Given the description of an element on the screen output the (x, y) to click on. 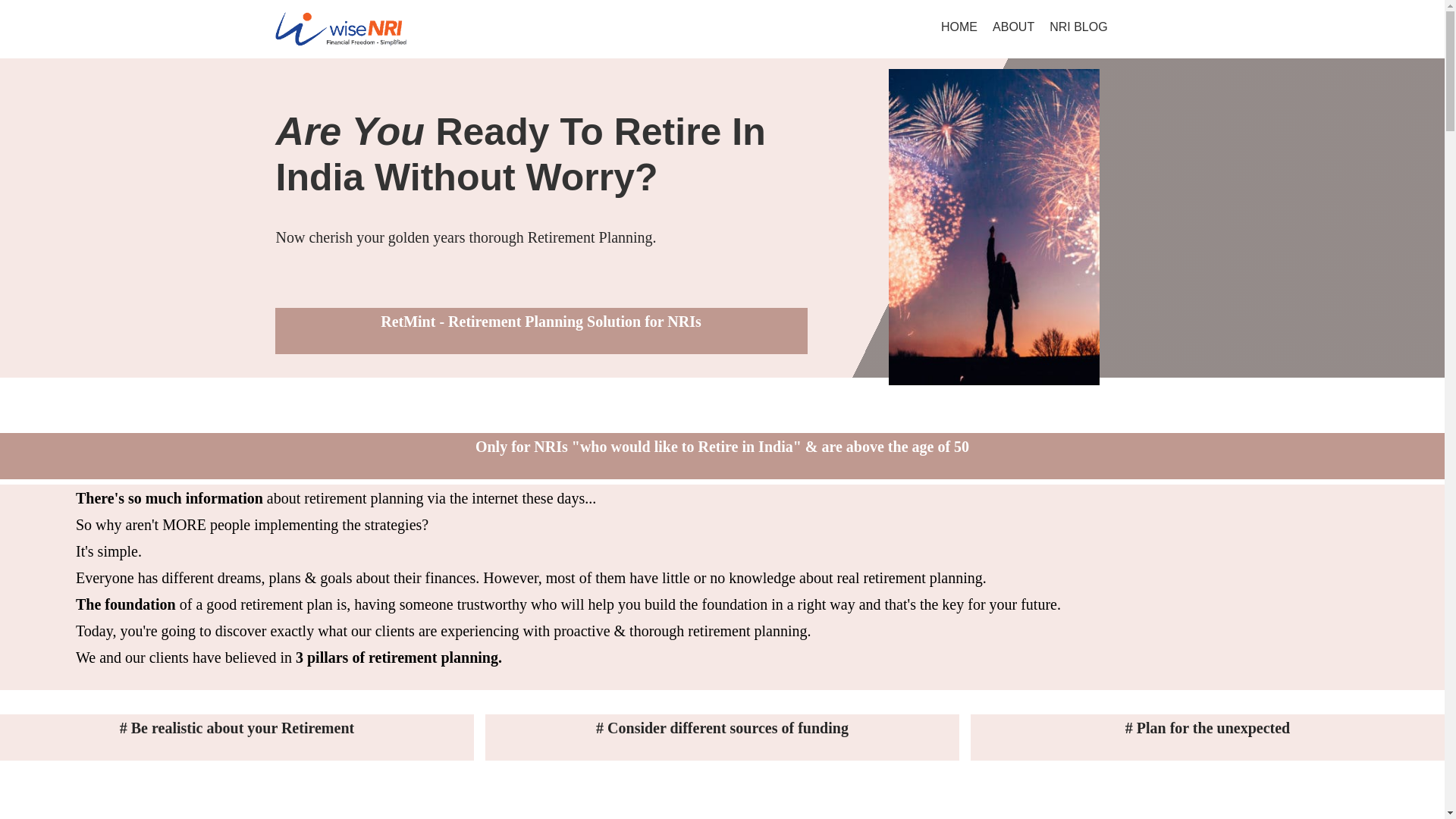
294x77 (340, 28)
NRI BLOG (1077, 27)
ABOUT (1012, 27)
HOME (958, 27)
